Given the description of an element on the screen output the (x, y) to click on. 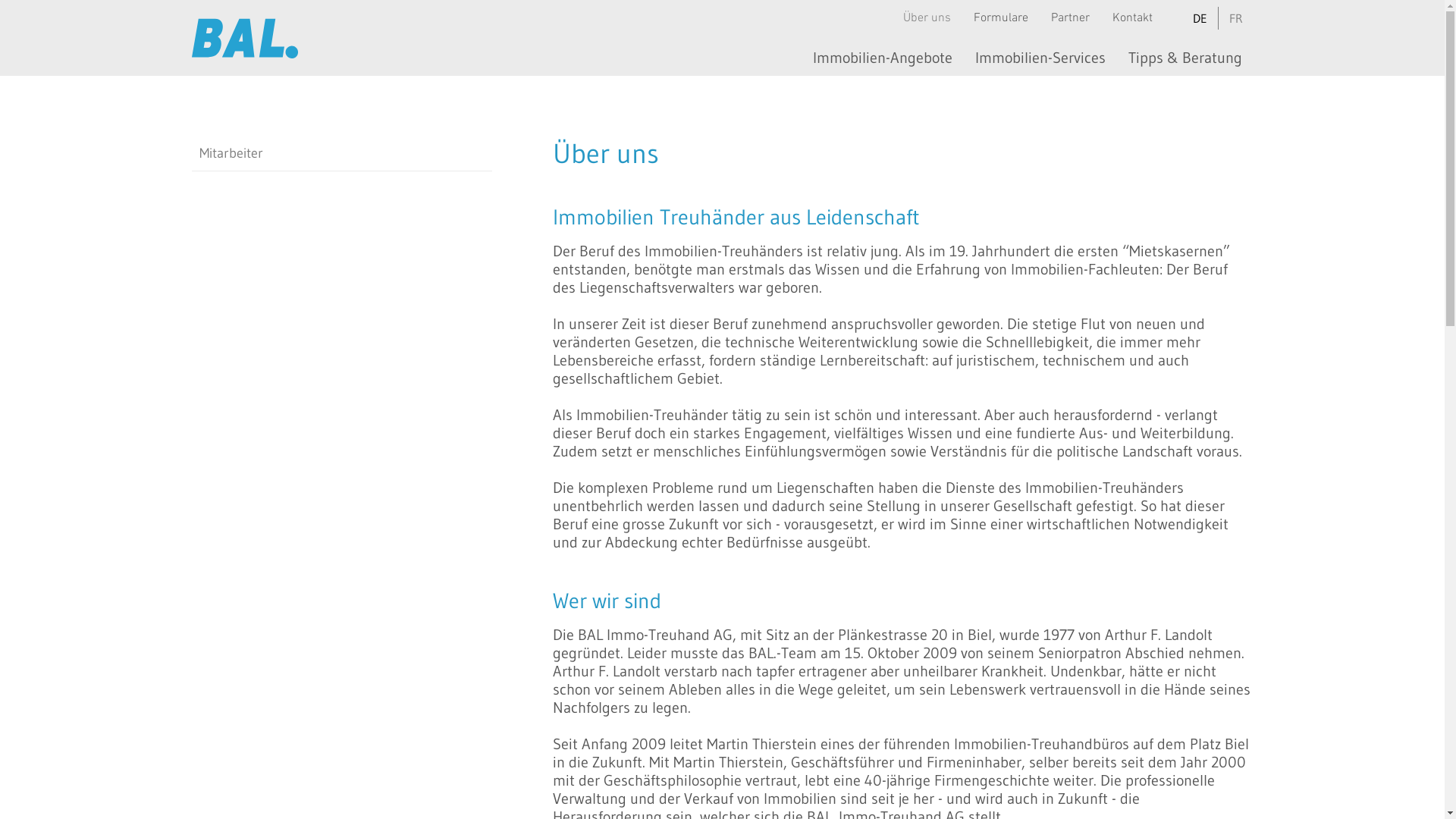
Immobilien-Services Element type: text (1039, 57)
DE Element type: text (1199, 17)
Partner Element type: text (1070, 18)
Immobilien-Angebote Element type: text (881, 57)
FR Element type: text (1235, 17)
Formulare Element type: text (1000, 18)
Mitarbeiter Element type: text (341, 153)
Tipps & Beratung Element type: text (1184, 57)
Kontakt Element type: text (1132, 18)
